Given the description of an element on the screen output the (x, y) to click on. 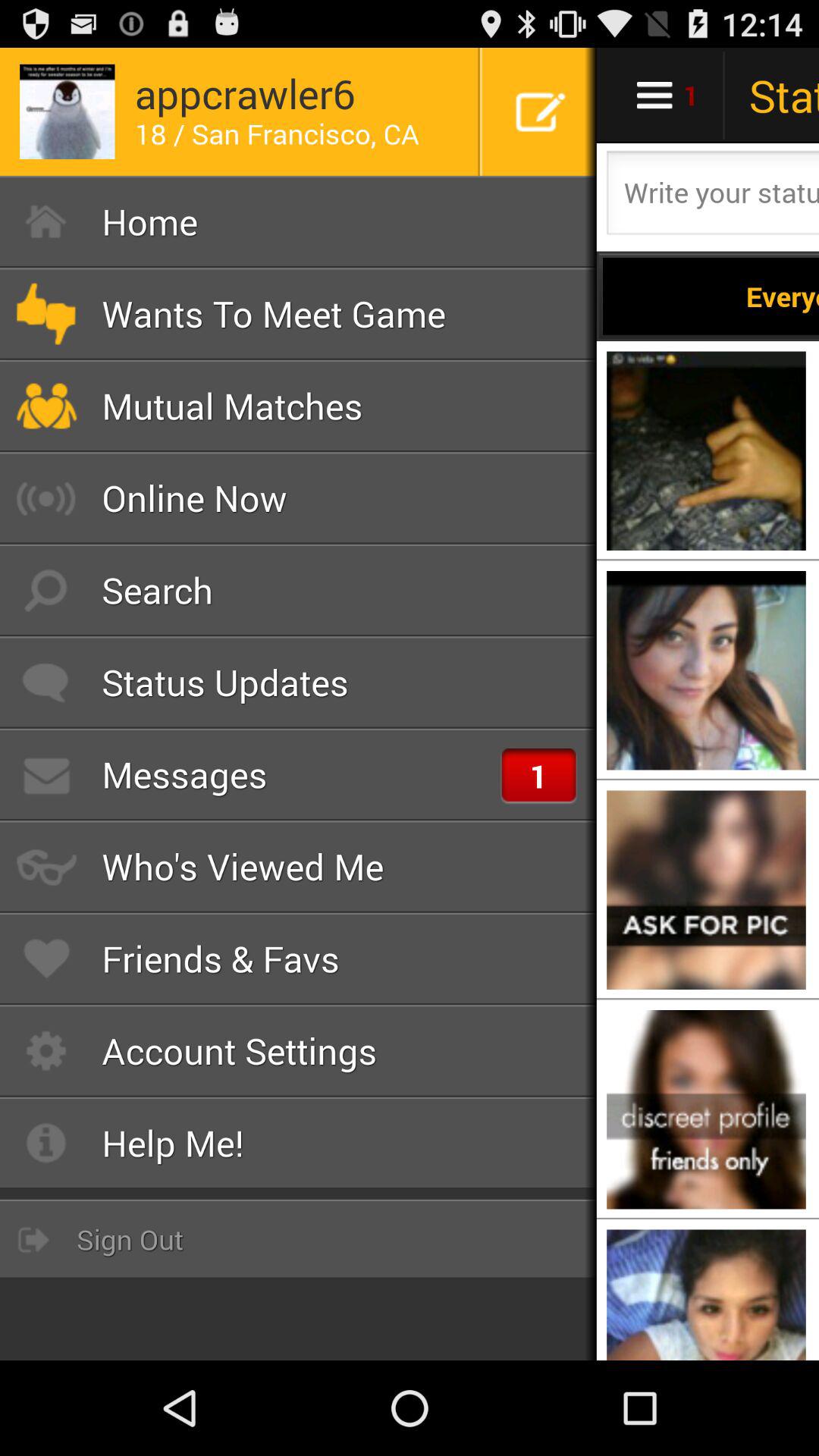
write status update (710, 197)
